Given the description of an element on the screen output the (x, y) to click on. 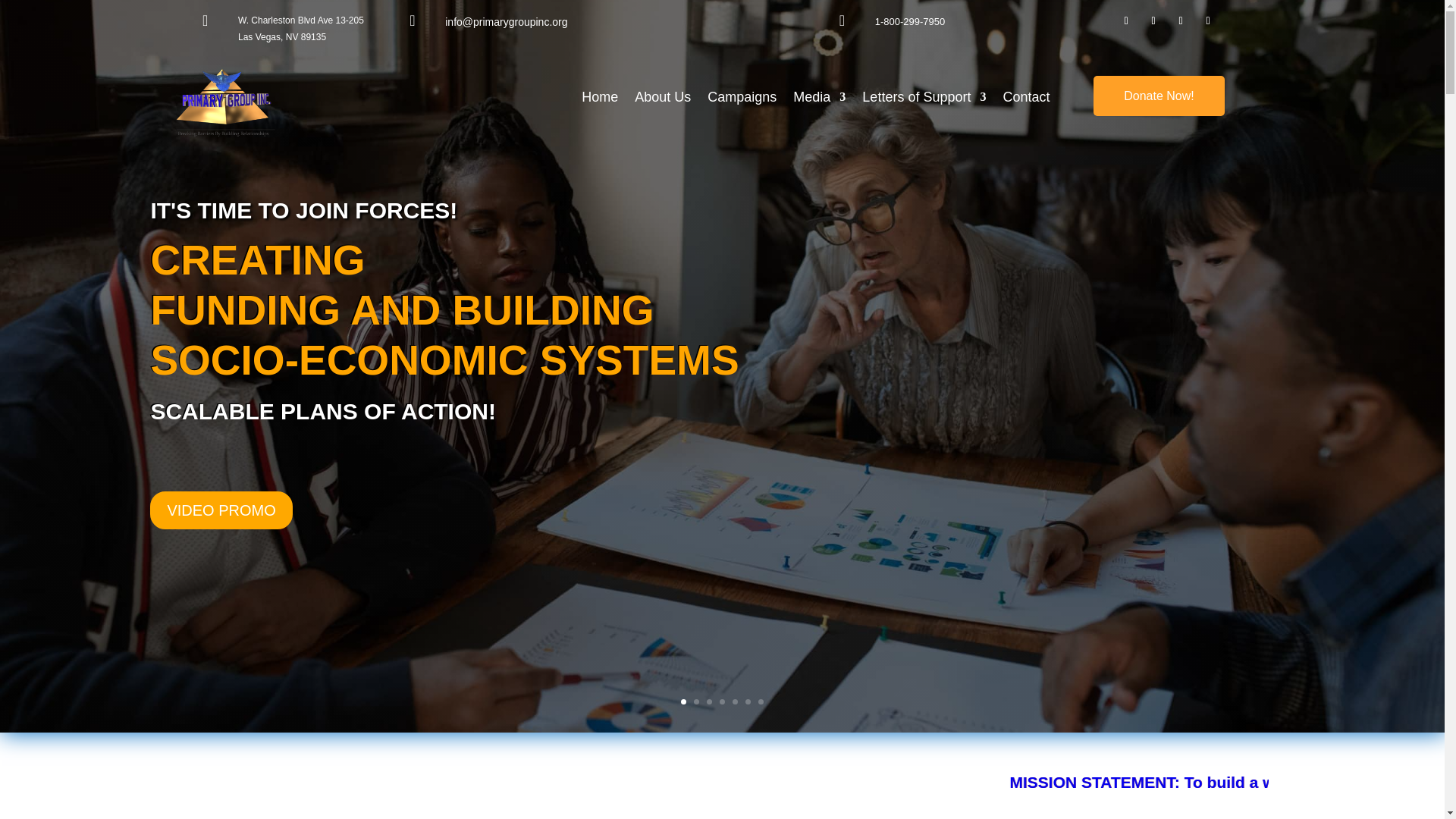
Home (598, 99)
Letters of Support (923, 99)
Campaigns (741, 99)
cropped-Primary-Group-Inc-New-Logo-1.png (225, 103)
Follow on Instagram (1180, 20)
Follow on LinkedIn (1152, 20)
Contact (1026, 99)
IT'S TIME TO JOIN FORCES! (303, 249)
Media (819, 99)
About Us (662, 99)
Donate Now! (1158, 96)
VIDEO PROMO (220, 543)
Follow on Facebook (1126, 20)
Follow on Twitter (1207, 20)
